Given the description of an element on the screen output the (x, y) to click on. 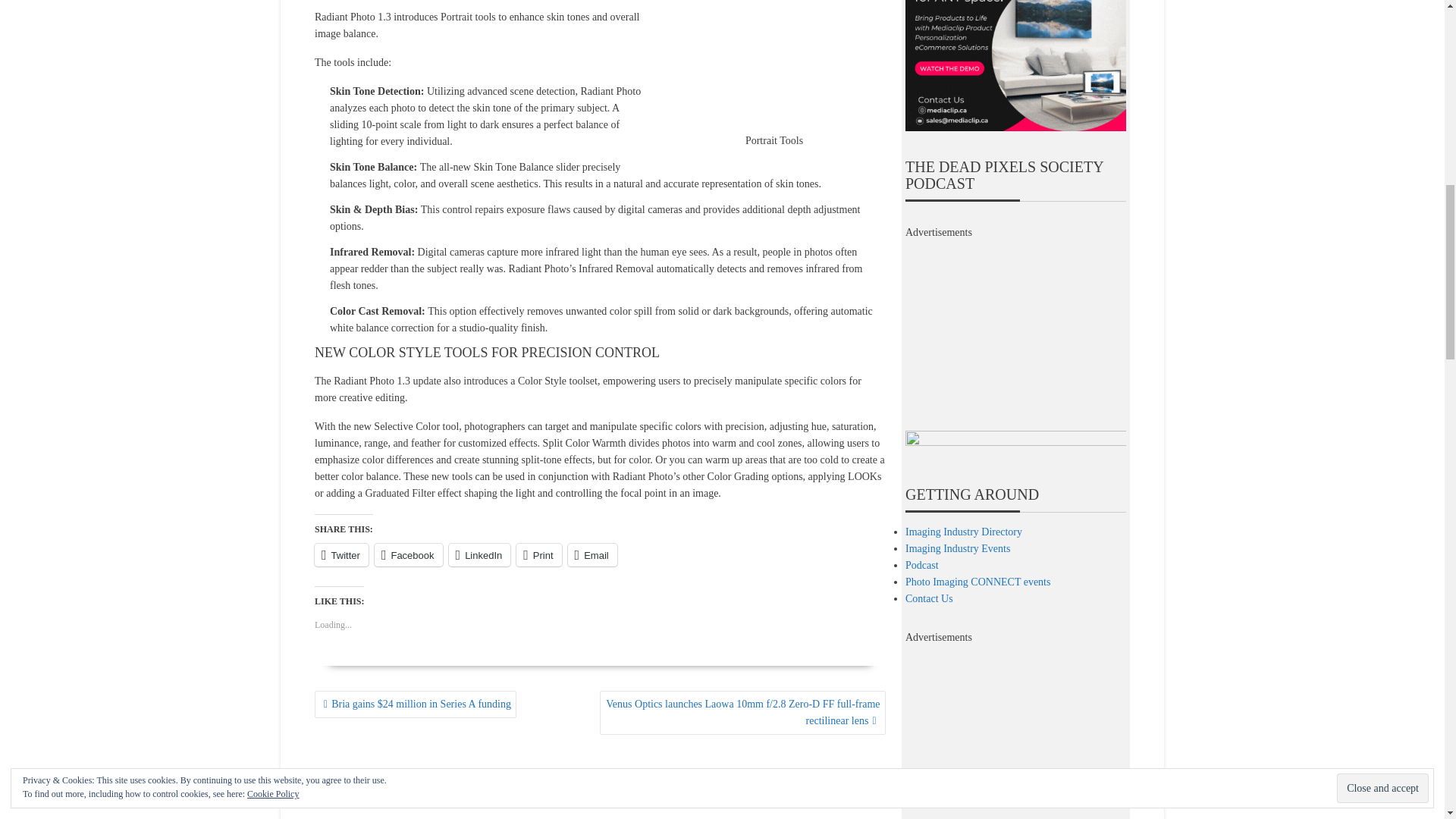
Email (592, 554)
Podcast (922, 564)
Imaging Industry Events (957, 548)
Click to share on Facebook (408, 554)
Photo Imaging CONNECT events (977, 582)
Imaging Industry Directory (963, 531)
Click to print (538, 554)
Click to share on LinkedIn (479, 554)
Facebook (408, 554)
Print (538, 554)
Click to email a link to a friend (592, 554)
LinkedIn (479, 554)
Twitter (341, 554)
Click to share on Twitter (341, 554)
